Given the description of an element on the screen output the (x, y) to click on. 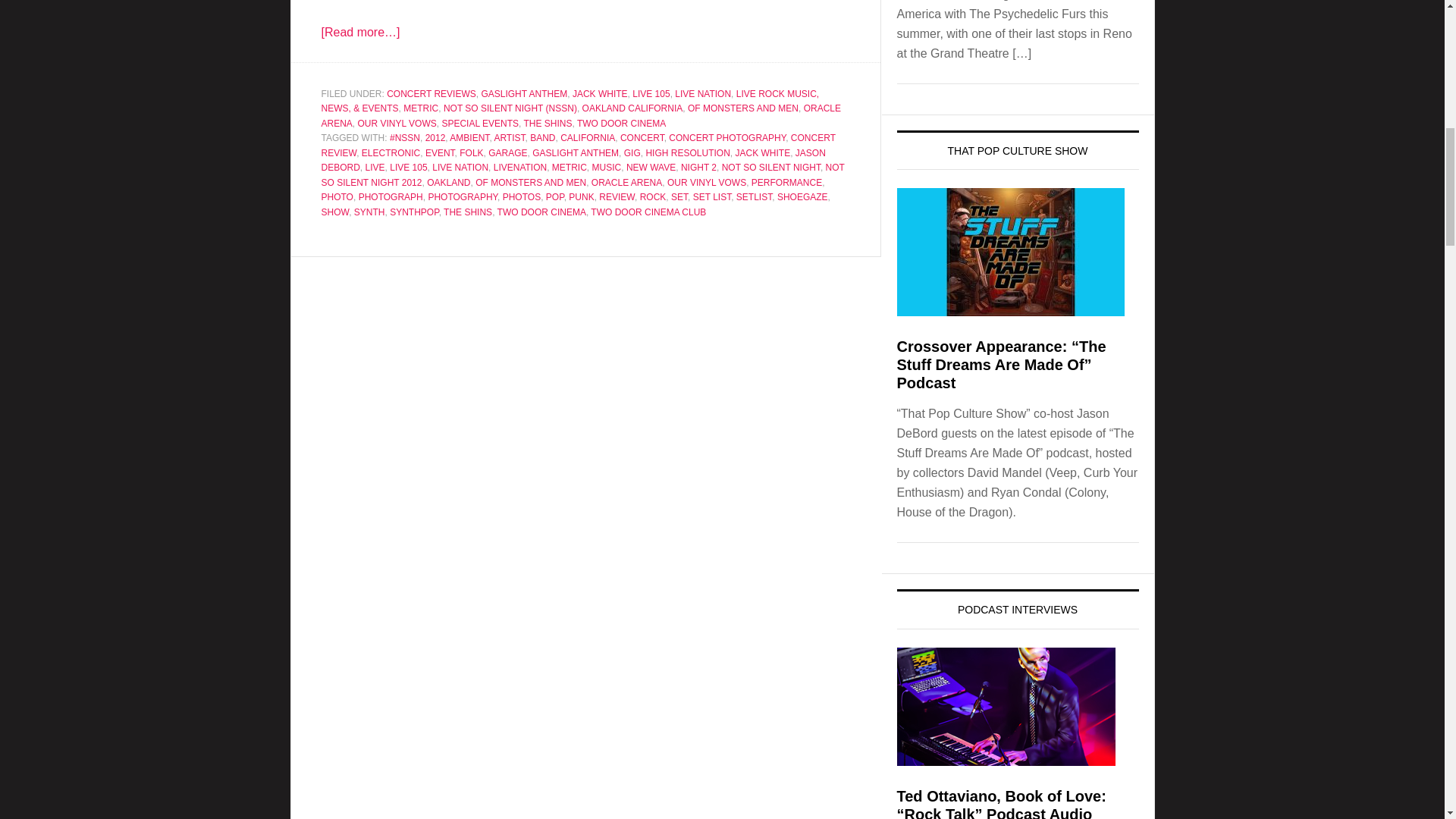
LIVE 105 (650, 92)
ORACLE ARENA (581, 115)
METRIC (420, 108)
CONCERT REVIEWS (431, 92)
OF MONSTERS AND MEN (742, 108)
JACK WHITE (599, 92)
LIVE NATION (702, 92)
GASLIGHT ANTHEM (523, 92)
OAKLAND CALIFORNIA (632, 108)
